Given the description of an element on the screen output the (x, y) to click on. 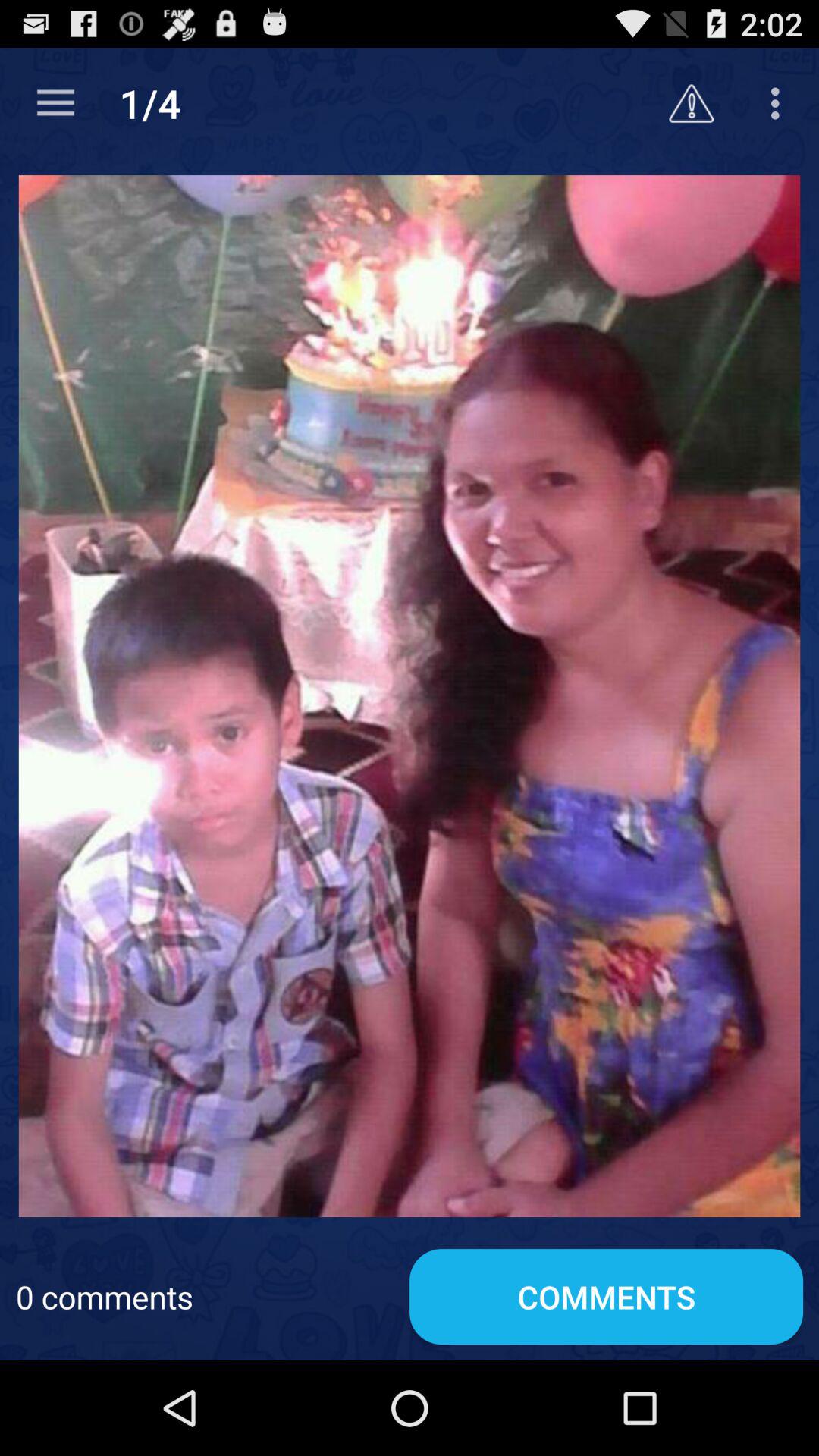
choose the app to the right of the 1/4 icon (691, 103)
